Given the description of an element on the screen output the (x, y) to click on. 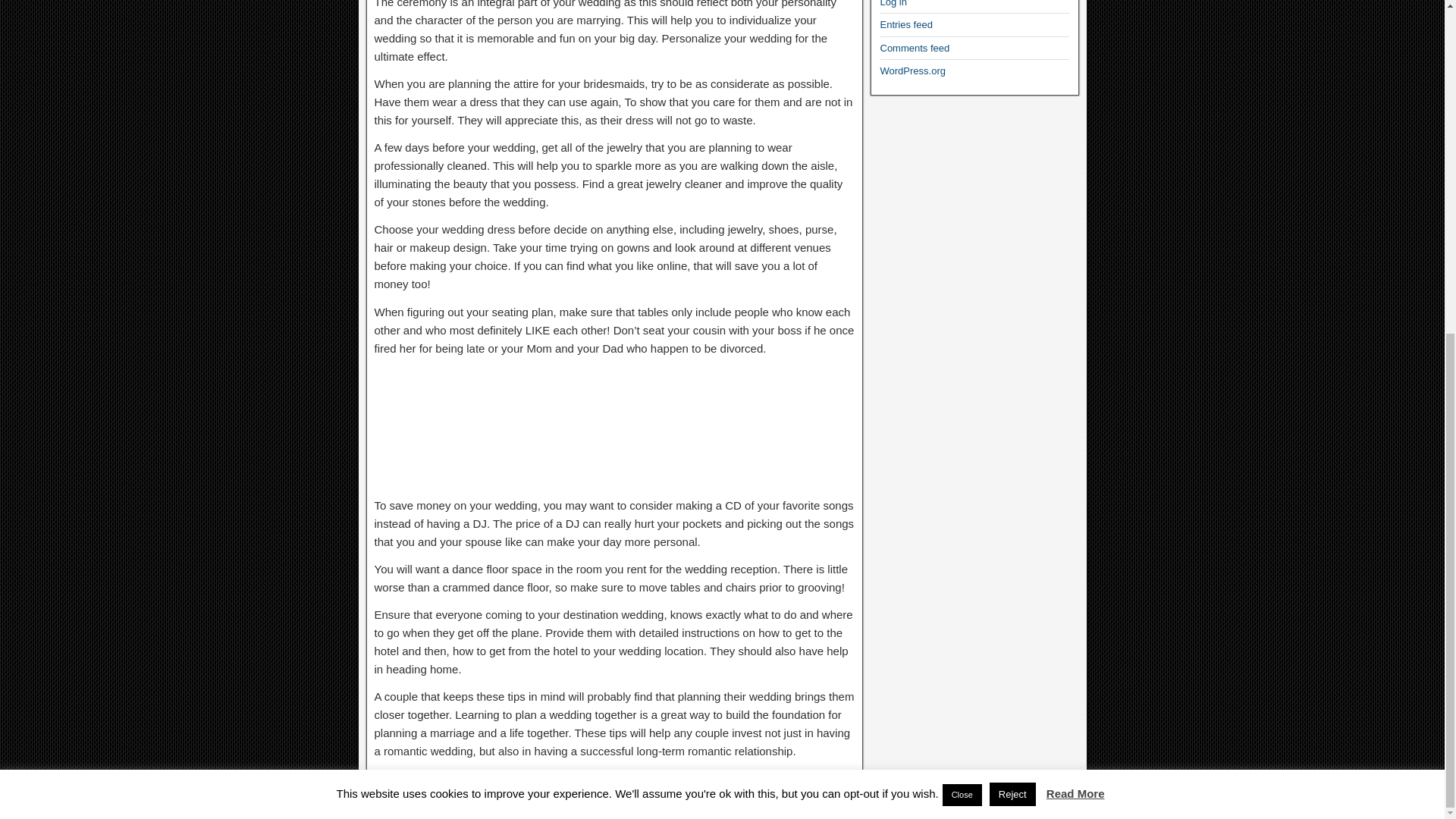
WordPress.org (911, 70)
Read More (1075, 236)
Log in (892, 3)
Reject (1012, 236)
Advertisement (614, 428)
Close (961, 237)
Comments feed (914, 48)
Entries feed (905, 24)
